Given the description of an element on the screen output the (x, y) to click on. 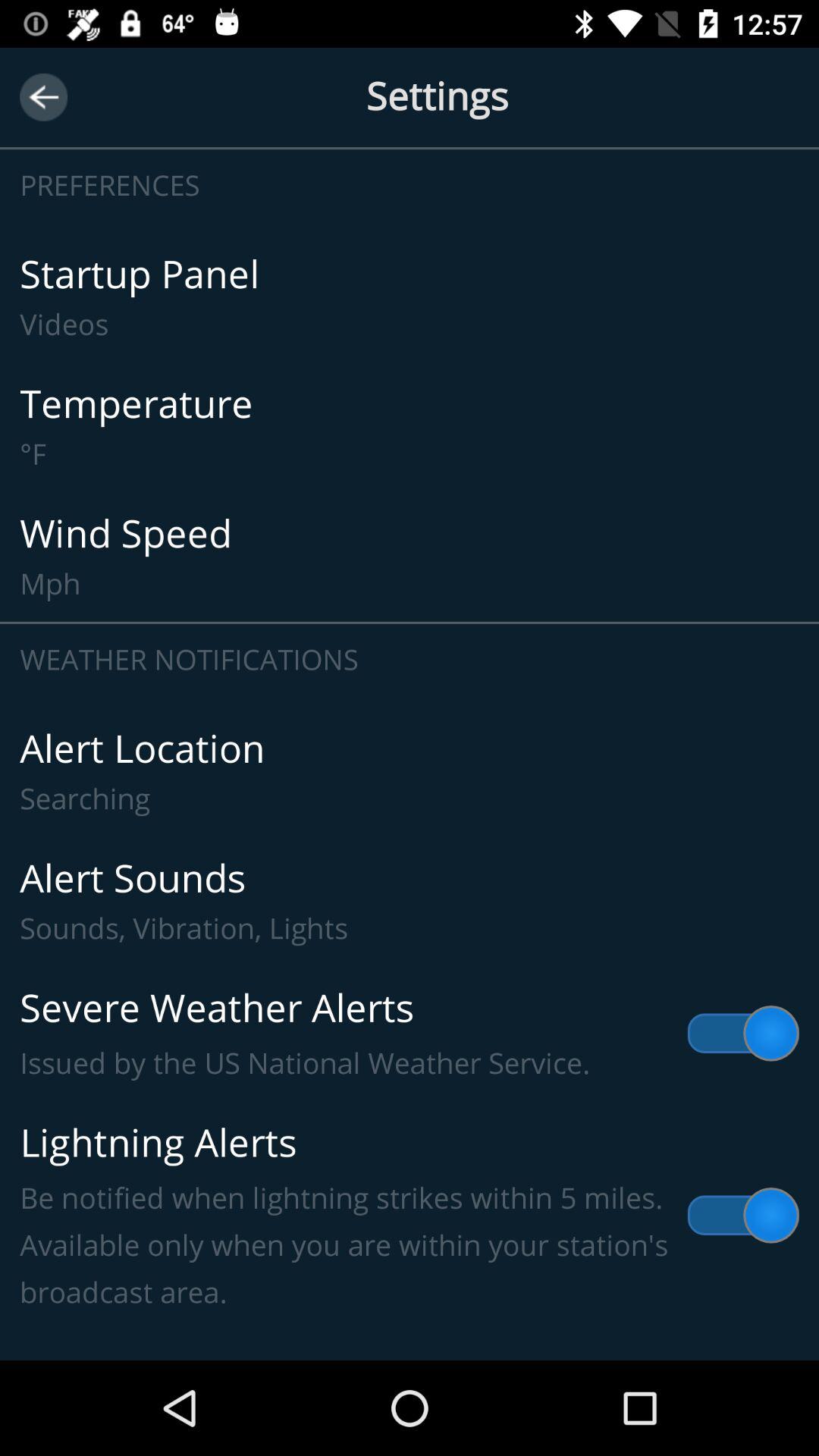
open the icon below the startup panel
videos icon (409, 426)
